Given the description of an element on the screen output the (x, y) to click on. 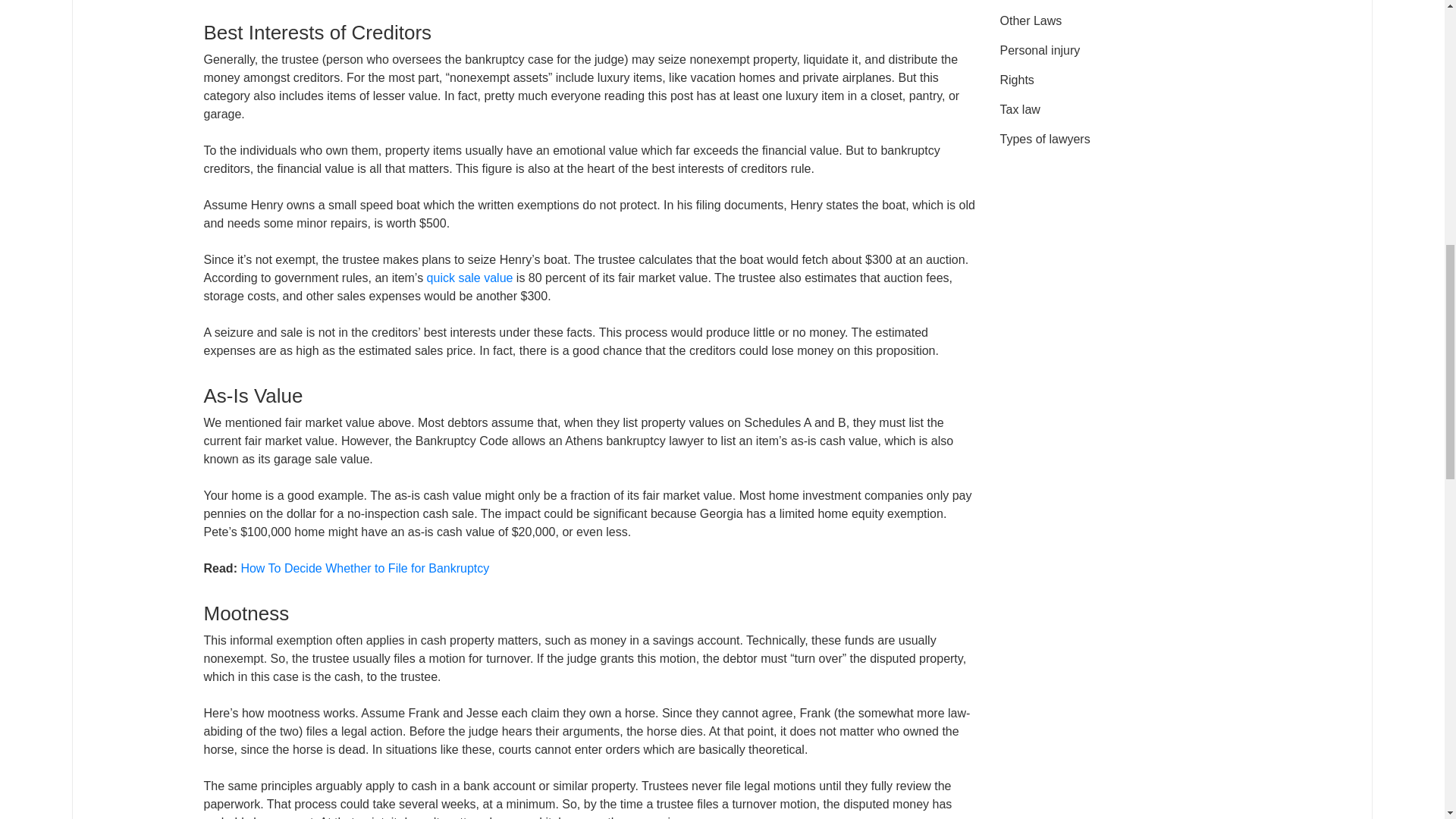
quick sale value (469, 277)
How To Decide Whether to File for Bankruptcy (364, 567)
Personal injury (1039, 50)
Other Laws (1029, 20)
